Given the description of an element on the screen output the (x, y) to click on. 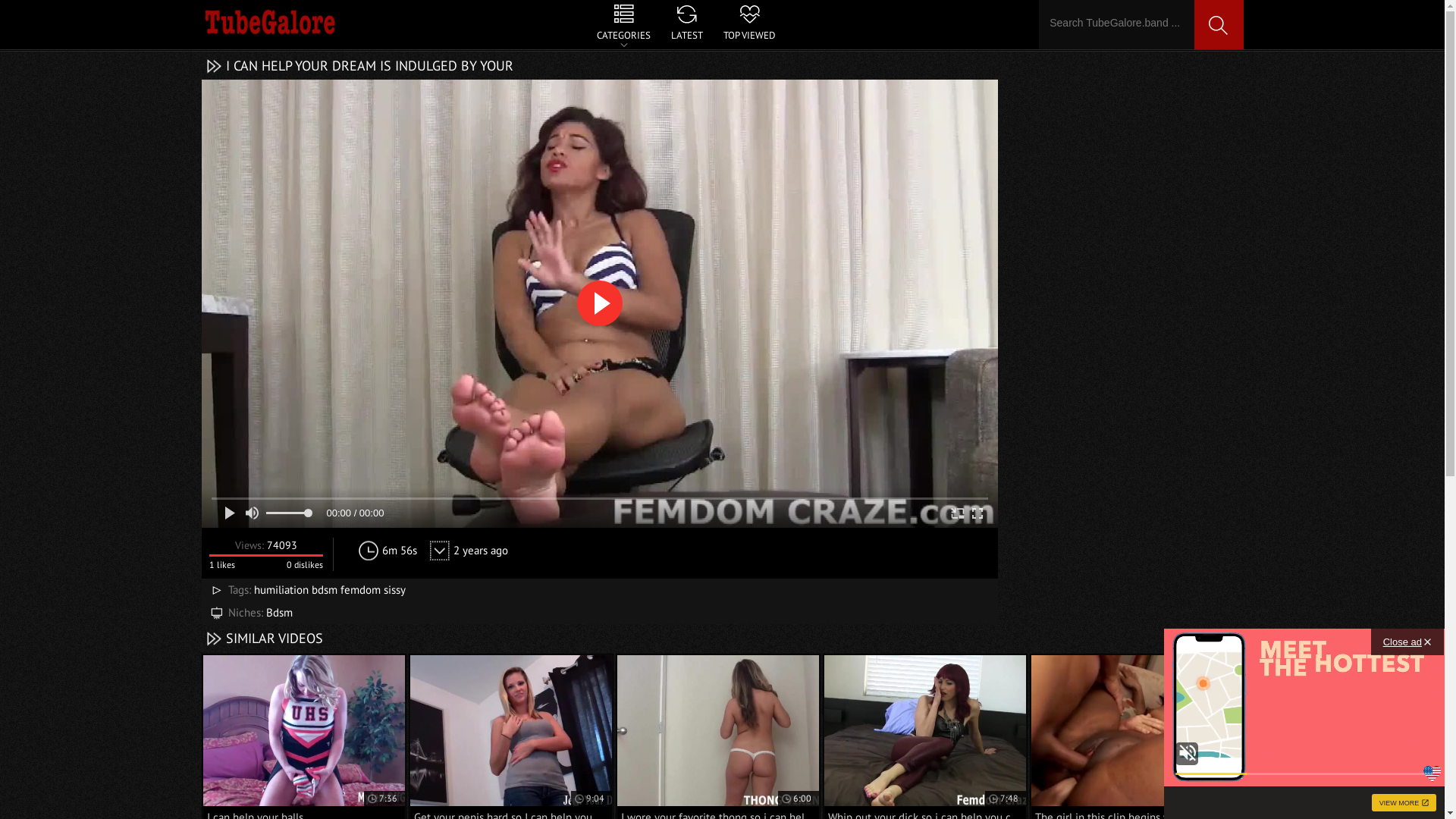
bdsm Element type: text (323, 589)
humiliation Element type: text (280, 589)
Bdsm Element type: text (278, 612)
femdom Element type: text (359, 589)
LATEST Element type: text (687, 24)
TOP VIEWED Element type: text (749, 24)
CATEGORIES Element type: text (623, 24)
TubeGalore Element type: hover (269, 22)
CATEGORIES LATEST TOP VIEWED Element type: text (685, 24)
sissy Element type: text (394, 589)
